Given the description of an element on the screen output the (x, y) to click on. 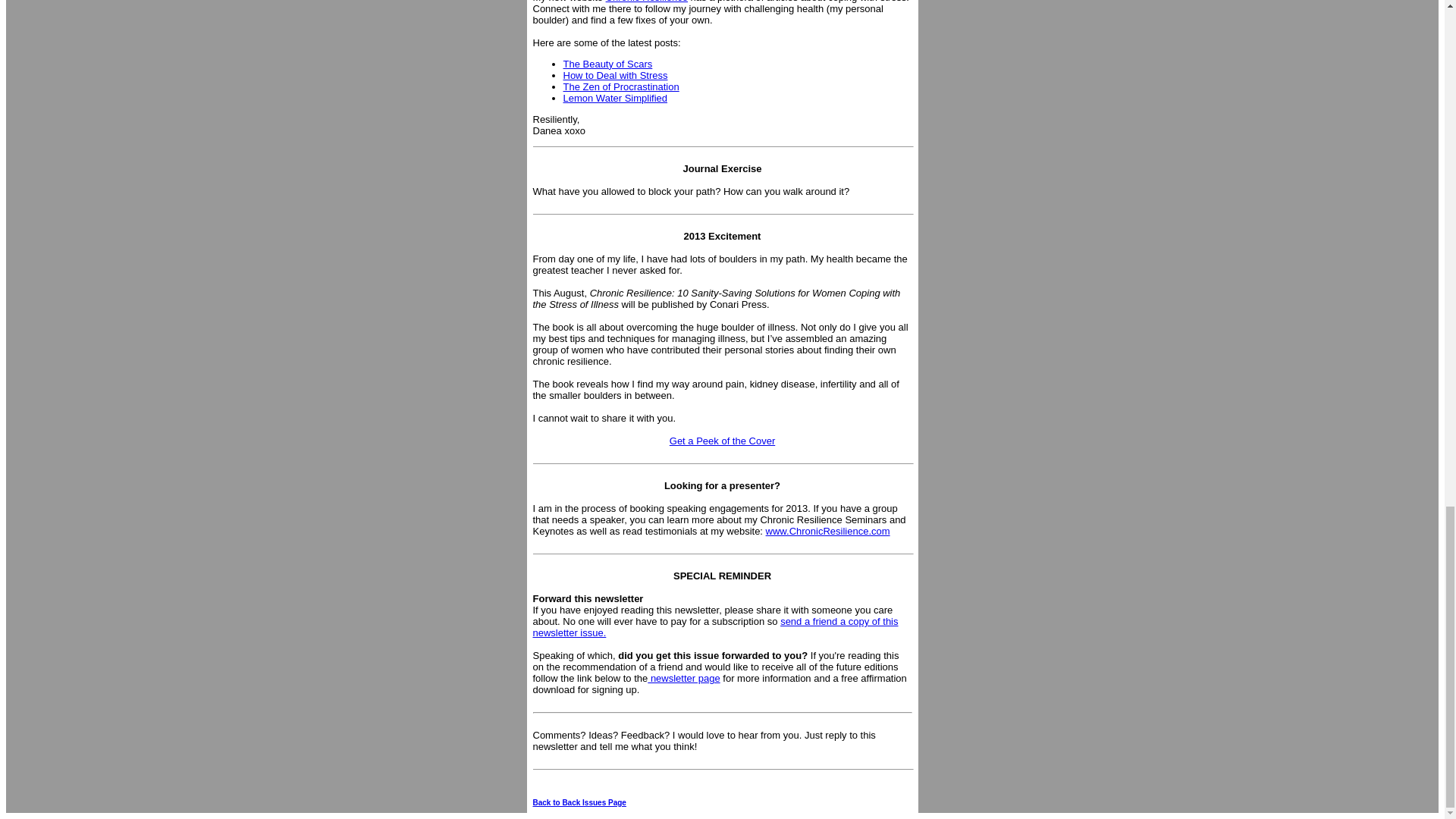
newsletter page (683, 677)
www.ChronicResilience.com (943, 536)
Lemon Water Simplified (614, 98)
Chronic Resilience (646, 1)
The Beauty of Scars (607, 62)
send a friend a copy of this newsletter issue. (715, 626)
Back to Back Issues Page (579, 802)
The Zen of Procrastination (620, 85)
Get a Peek of the Cover (721, 440)
Inspirational Speaking (943, 536)
